Given the description of an element on the screen output the (x, y) to click on. 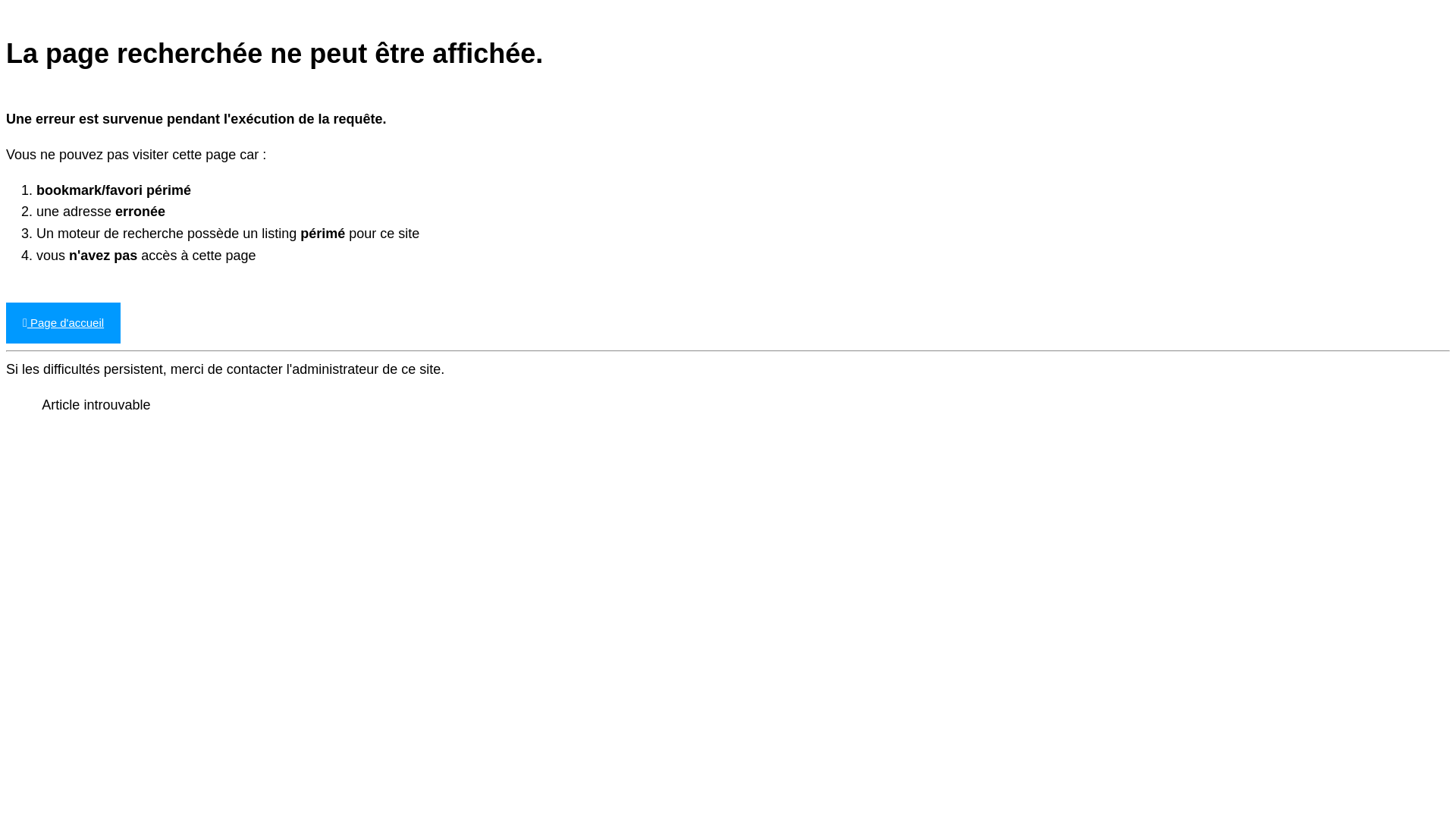
Page d'accueil Element type: text (63, 323)
